Given the description of an element on the screen output the (x, y) to click on. 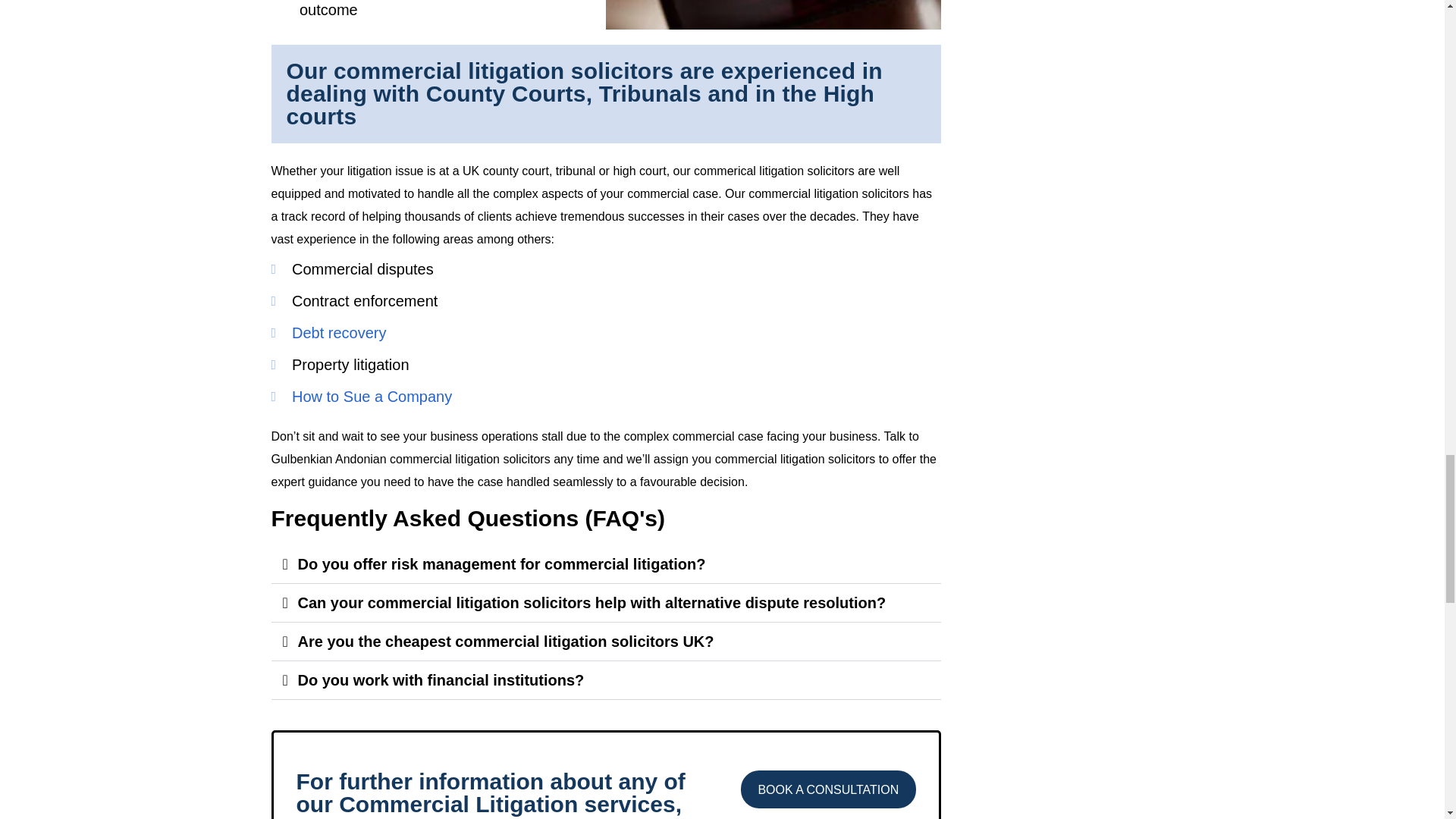
Do you offer risk management for commercial litigation? (500, 564)
How to Sue a Company (605, 396)
Are you the cheapest commercial litigation solicitors UK? (505, 641)
Debt recovery (605, 332)
